Given the description of an element on the screen output the (x, y) to click on. 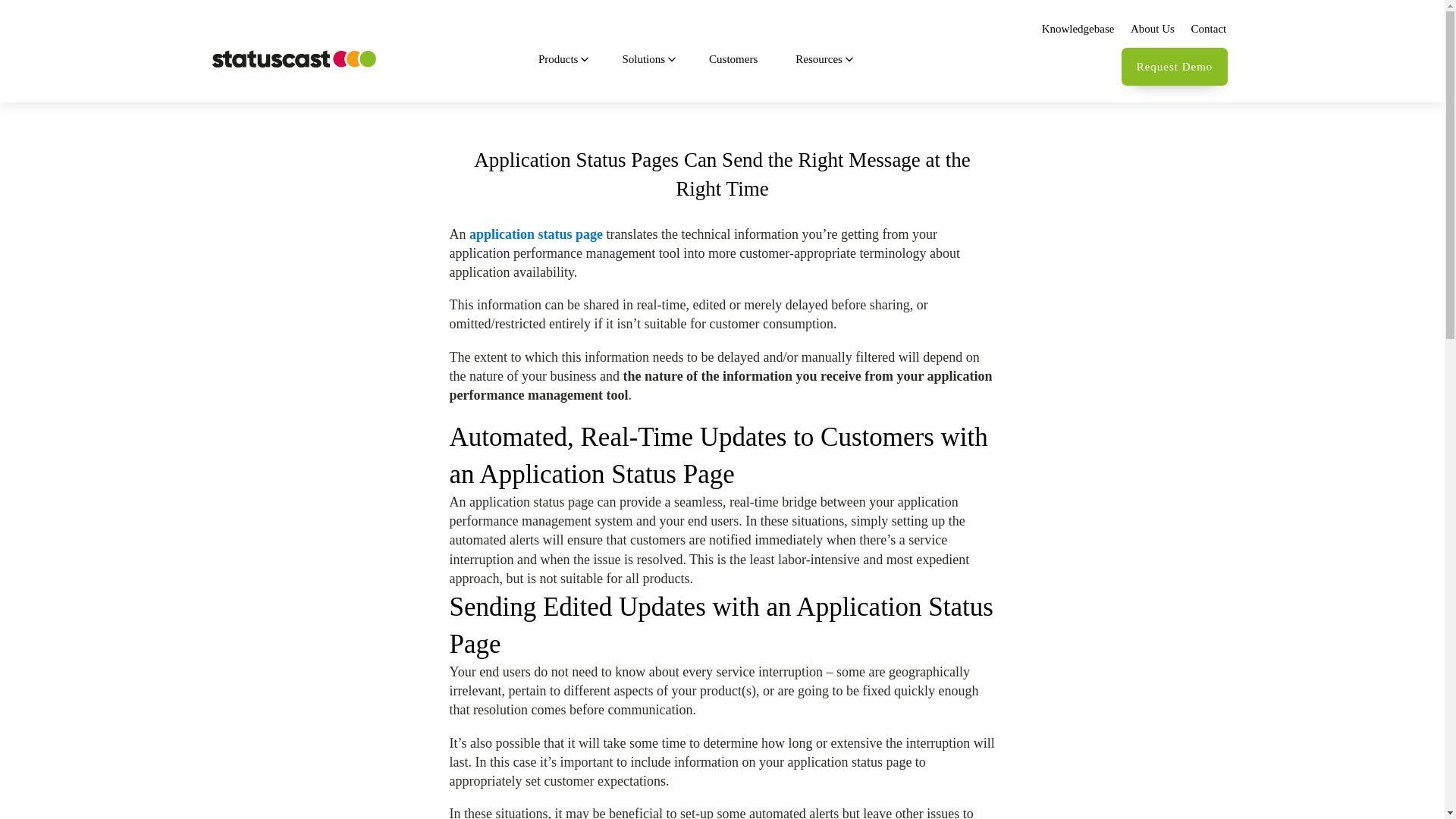
Request Demo (1174, 66)
Knowledgebase (1077, 28)
Customers (737, 58)
Contact (1208, 28)
About Us (1152, 28)
application status page (535, 233)
